Given the description of an element on the screen output the (x, y) to click on. 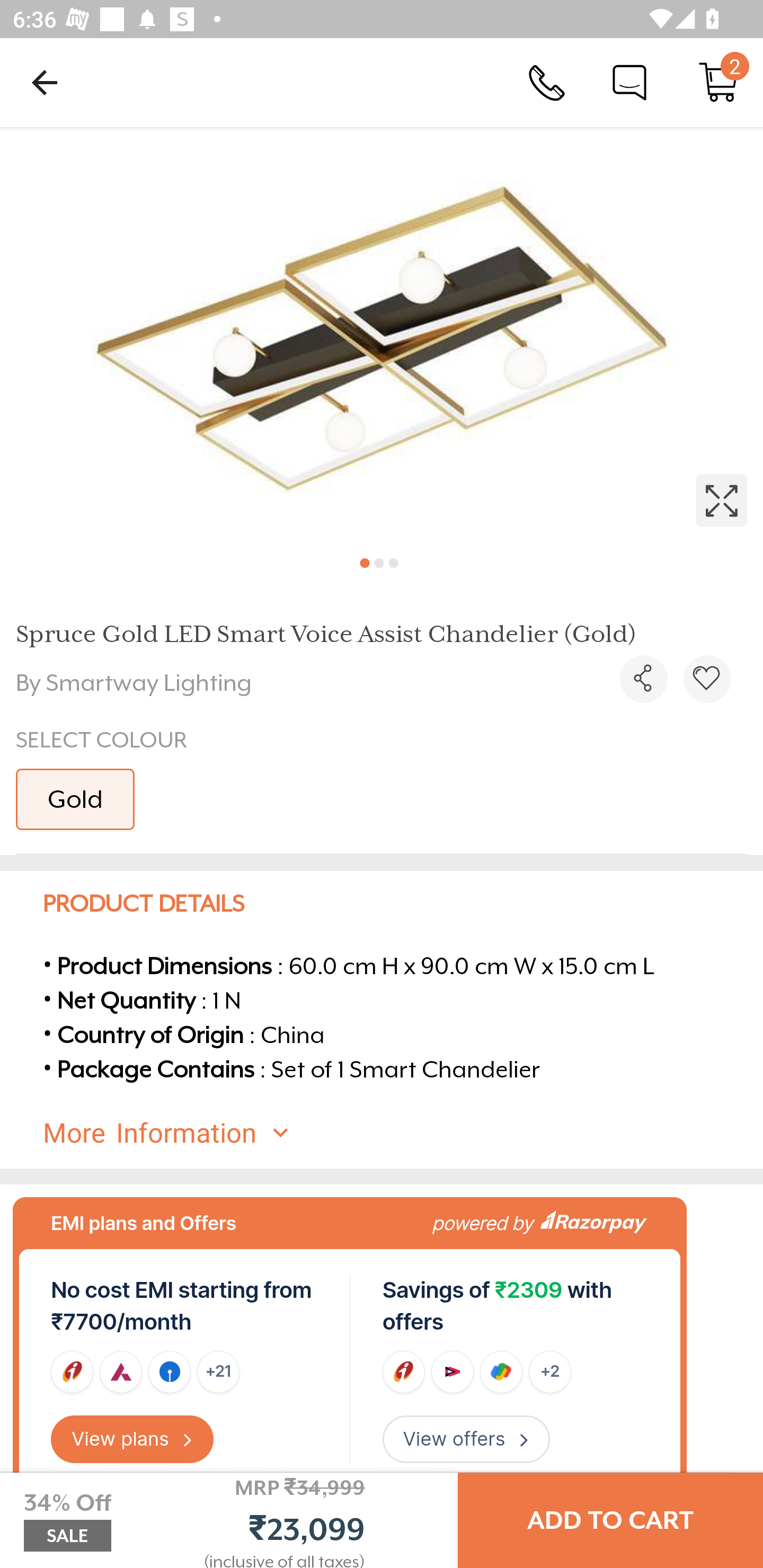
Navigate up (44, 82)
Call Us (546, 81)
Chat (629, 81)
Cart (718, 81)
 (381, 334)
 (643, 678)
 (706, 678)
Gold (75, 798)
More Information  (396, 1132)
View plans (132, 1439)
View offers (465, 1439)
ADD TO CART (610, 1520)
